Given the description of an element on the screen output the (x, y) to click on. 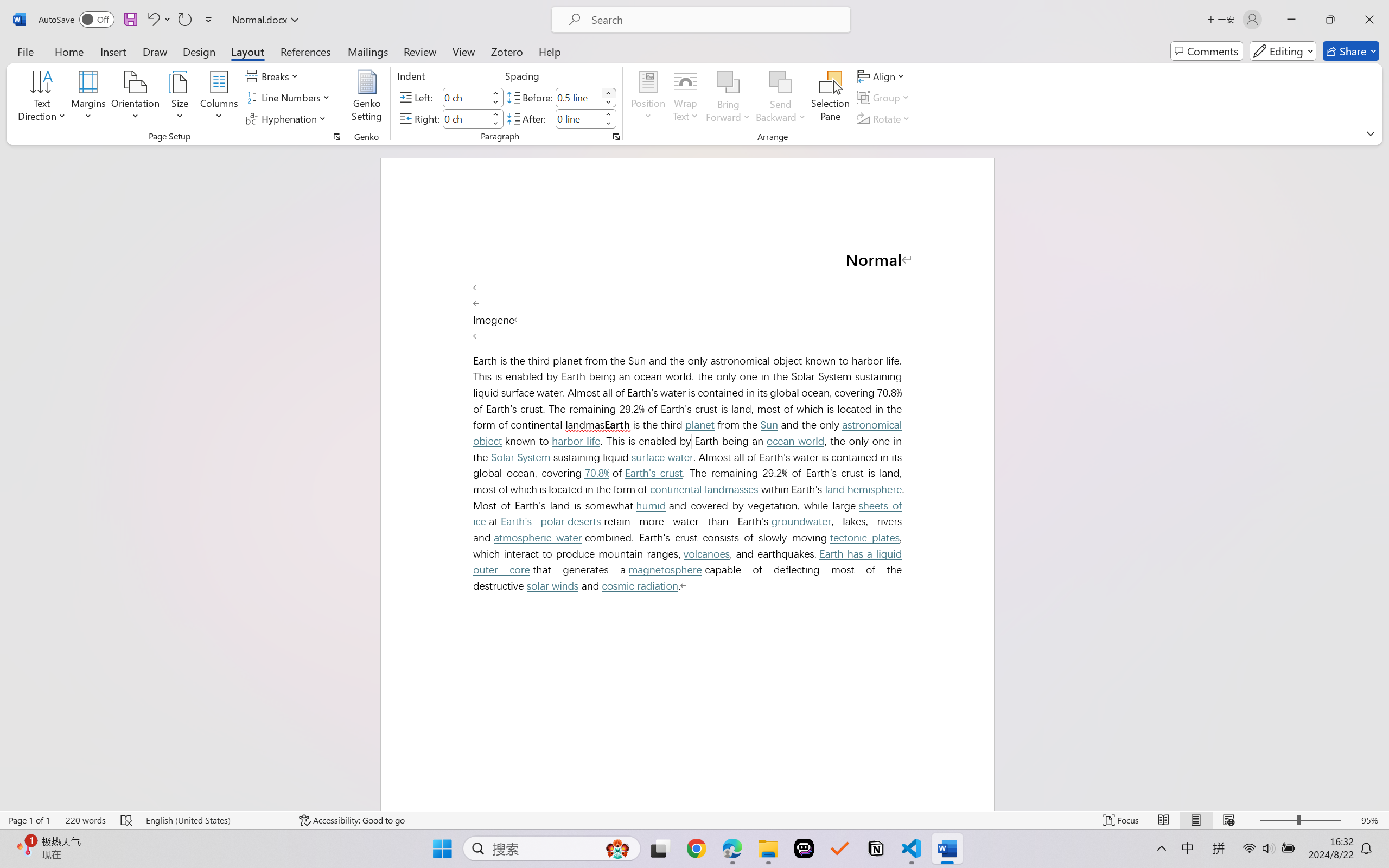
Breaks (273, 75)
Spacing After (578, 118)
Indent Left (465, 96)
Undo Paragraph Formatting (152, 19)
Repeat Paragraph Formatting (184, 19)
Earth's polar (533, 520)
ocean world (794, 441)
tectonic plates (865, 537)
